Given the description of an element on the screen output the (x, y) to click on. 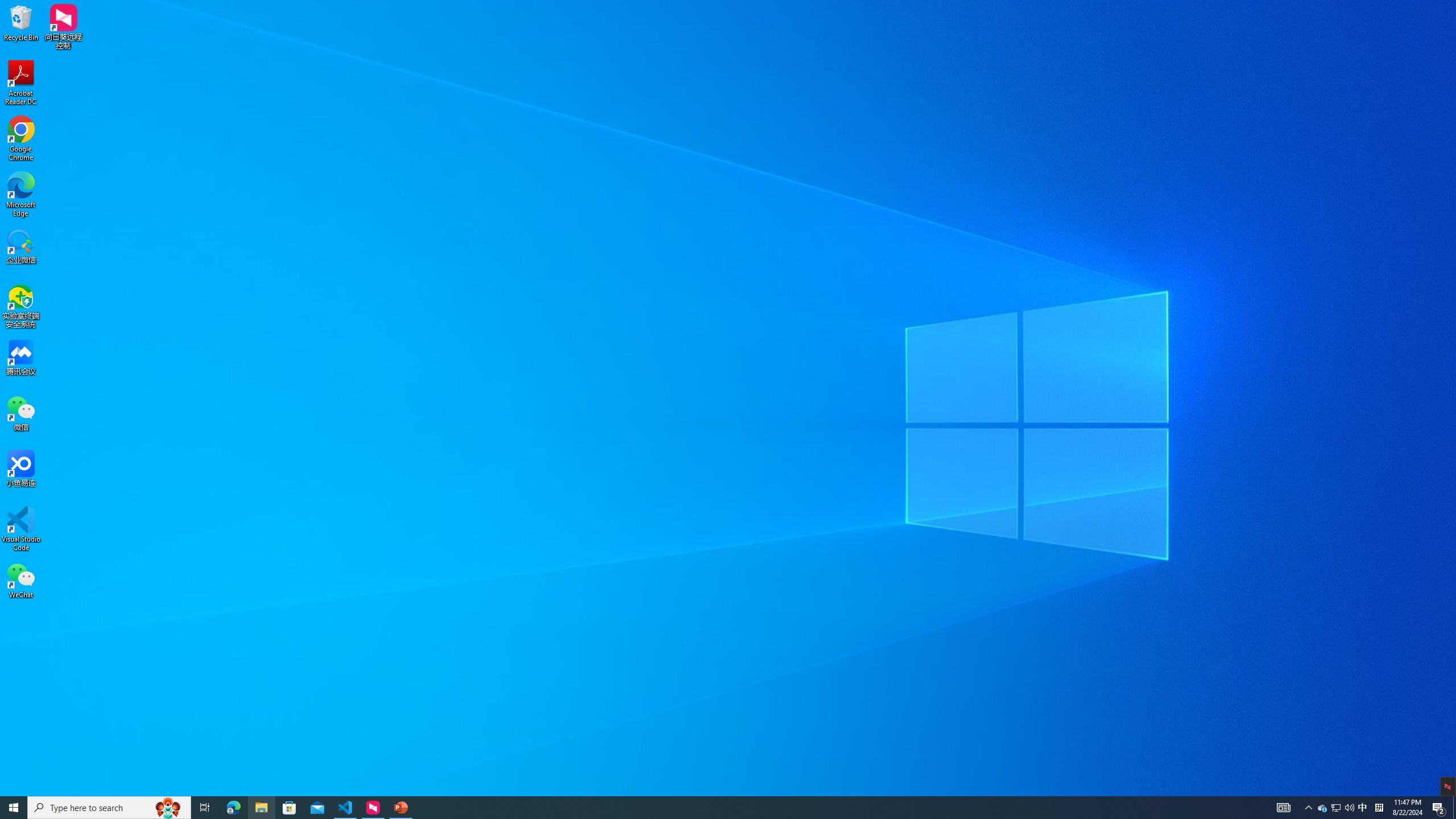
Shape Outline (701, 56)
